Given the description of an element on the screen output the (x, y) to click on. 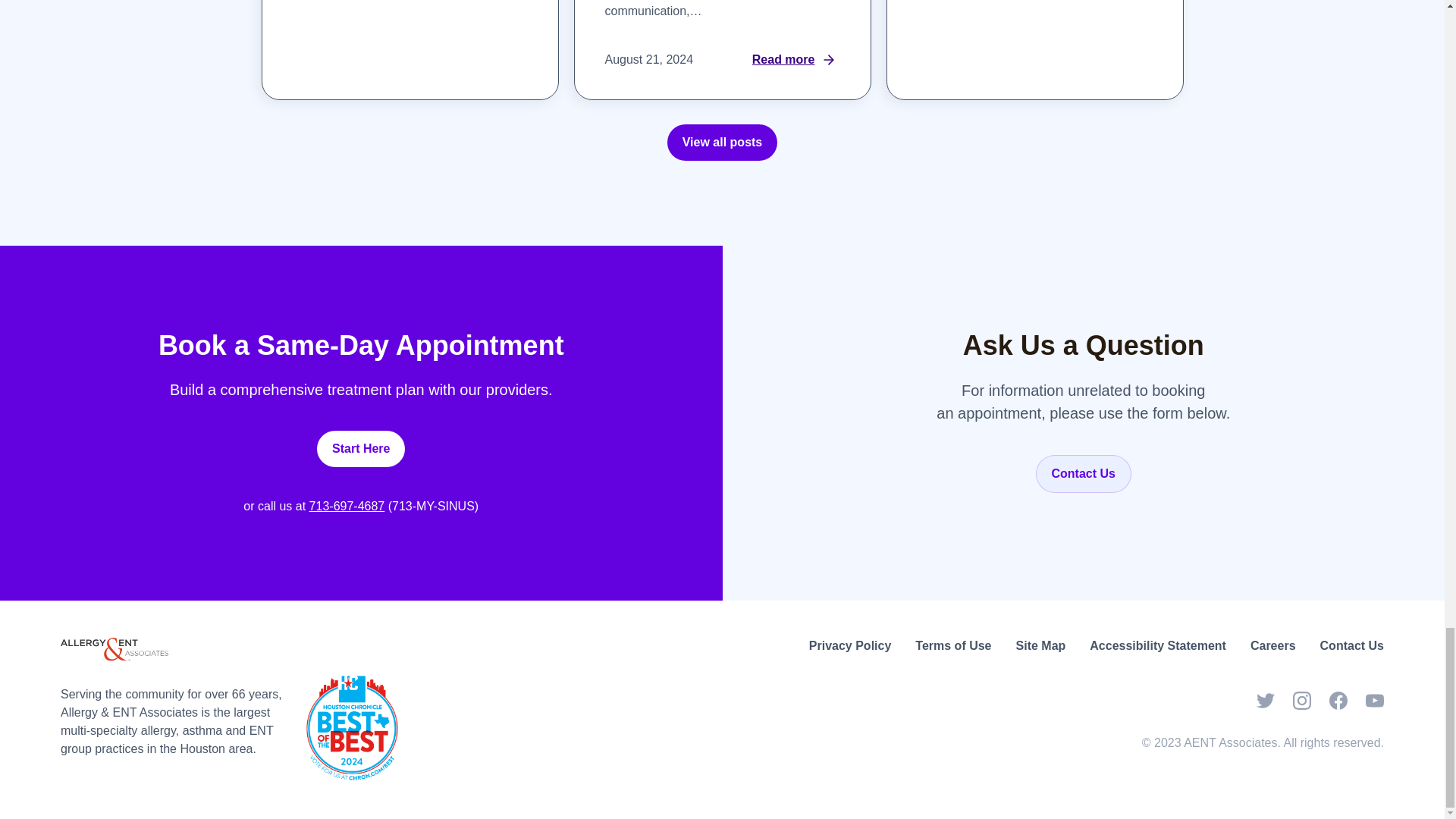
713-697-4687 (346, 505)
Read more (479, 12)
View all posts (721, 142)
Read more (1105, 3)
Contact Us (1083, 474)
Accessibility Statement (1157, 646)
Privacy Policy (850, 646)
Site Map (1040, 646)
Read more (792, 74)
Start Here (360, 448)
